Given the description of an element on the screen output the (x, y) to click on. 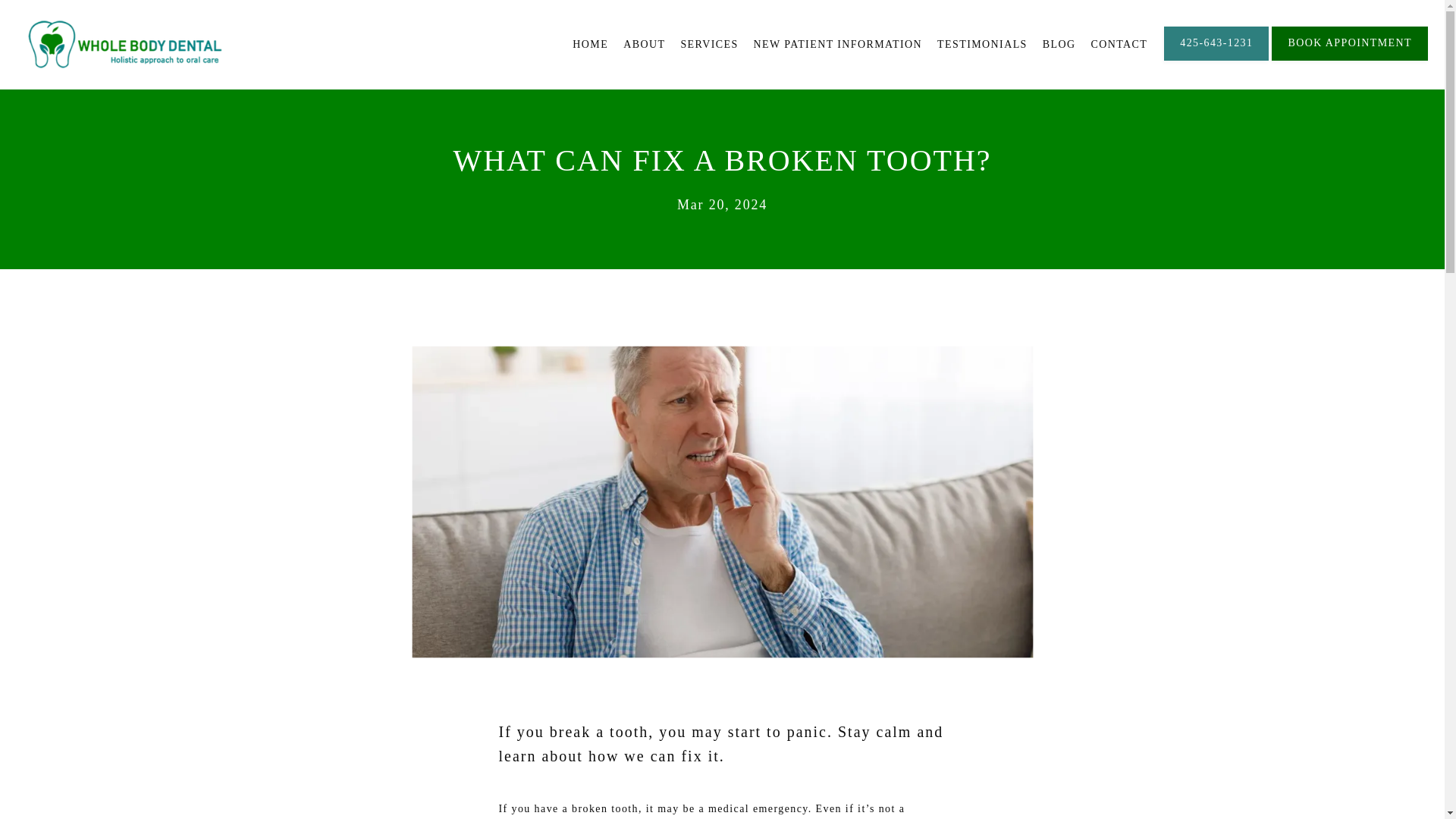
BLOG (1058, 43)
TESTIMONIALS (982, 43)
CONTACT (1118, 43)
SERVICES (708, 43)
BOOK APPOINTMENT (1349, 59)
HOME (590, 43)
425-643-1231 (1215, 59)
ABOUT (644, 43)
